Given the description of an element on the screen output the (x, y) to click on. 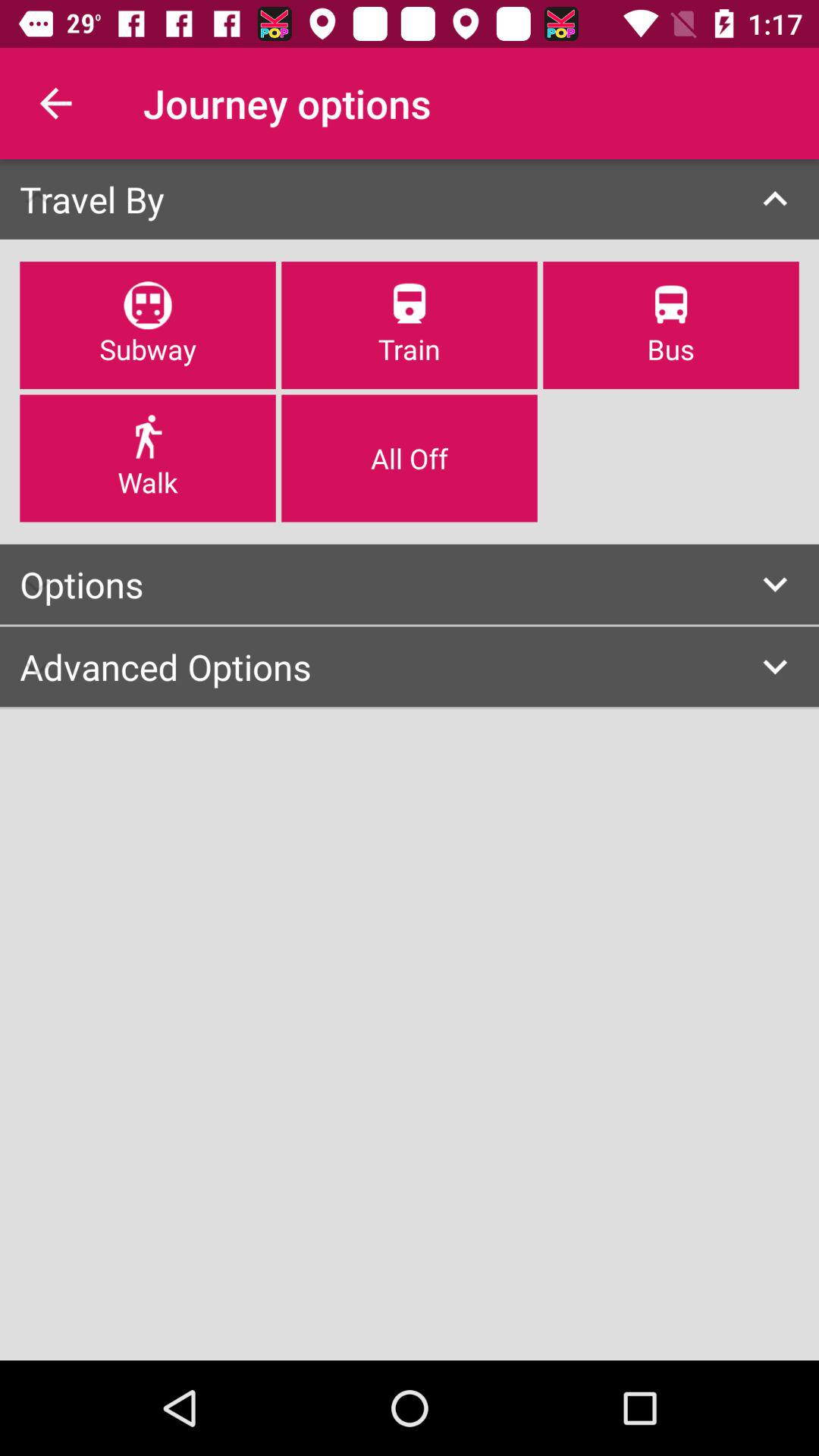
turn on item to the left of journey options (55, 103)
